Given the description of an element on the screen output the (x, y) to click on. 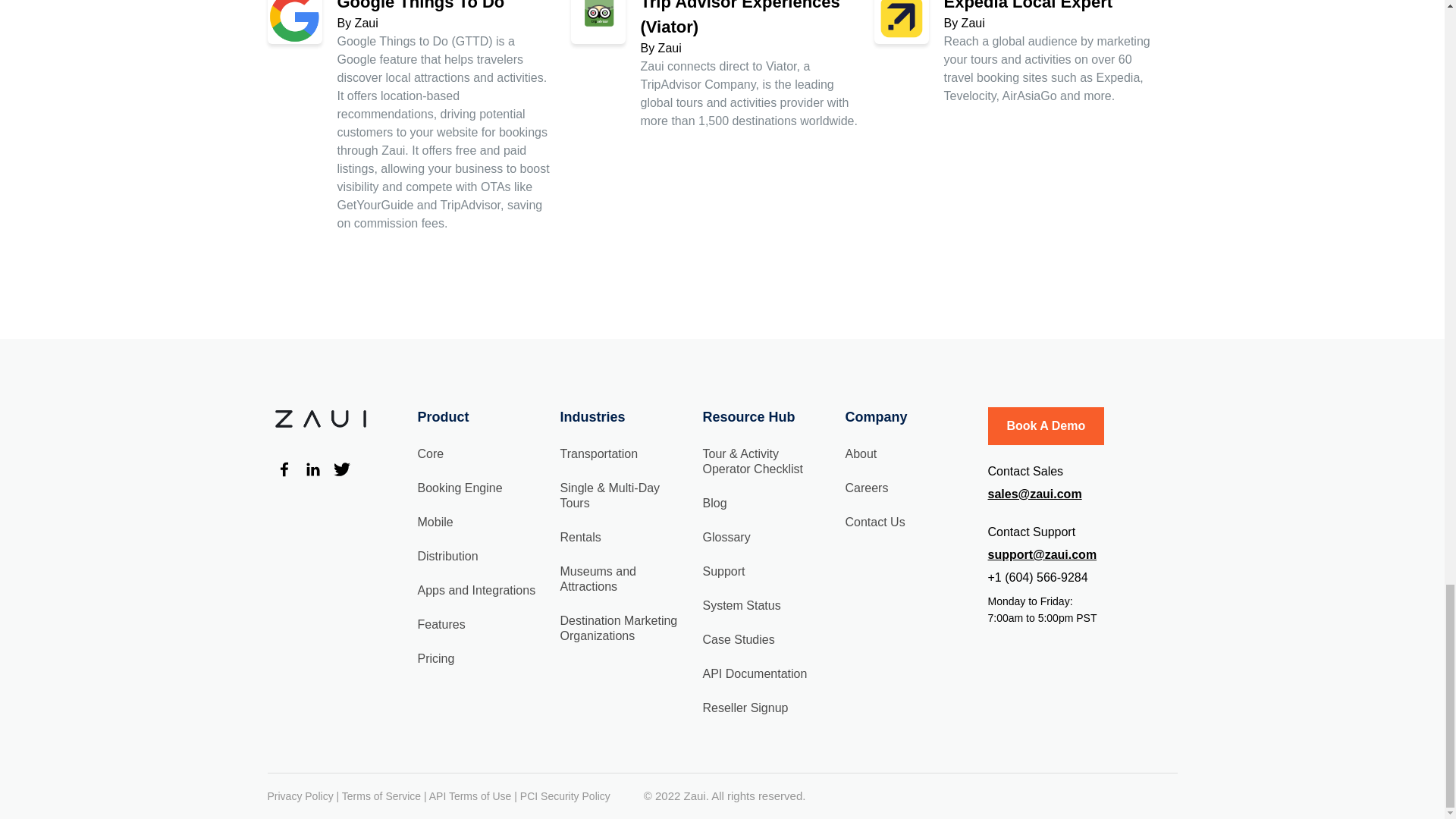
Support (722, 571)
Apps and Integrations (475, 590)
Expedia Local Expert (1027, 5)
Mobile (434, 521)
Pricing (435, 658)
Blog (713, 502)
Glossary (725, 536)
Destination Marketing Organizations (618, 628)
Core (430, 453)
Distribution (446, 555)
